Given the description of an element on the screen output the (x, y) to click on. 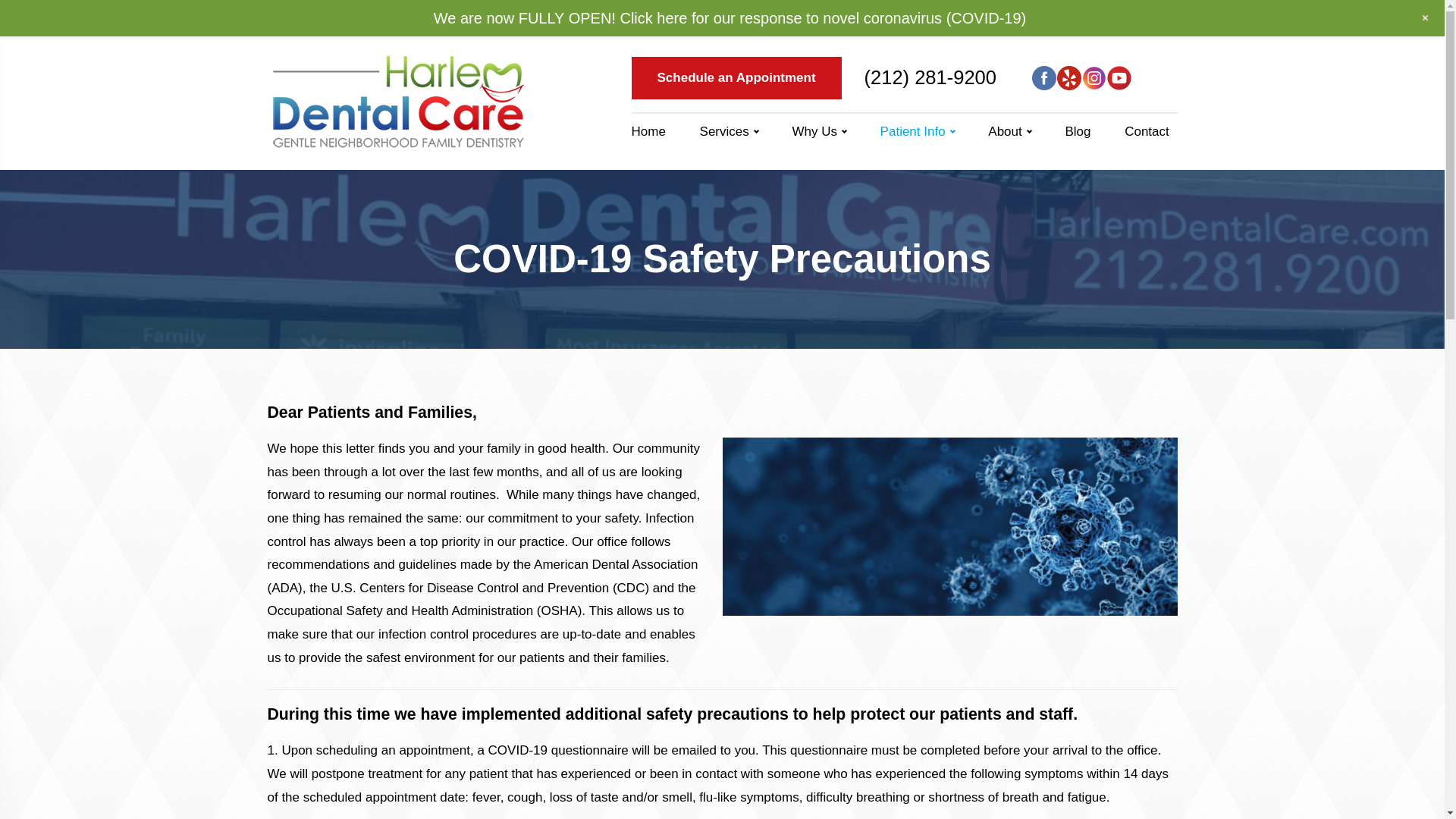
Schedule an Appointment (735, 77)
Find us on Yelp (1069, 78)
Watch us on YouTube (1118, 78)
Like us on Facebook (1044, 78)
Follow us on Instagram (1093, 78)
Patient Info (30, 18)
Home (654, 131)
